Given the description of an element on the screen output the (x, y) to click on. 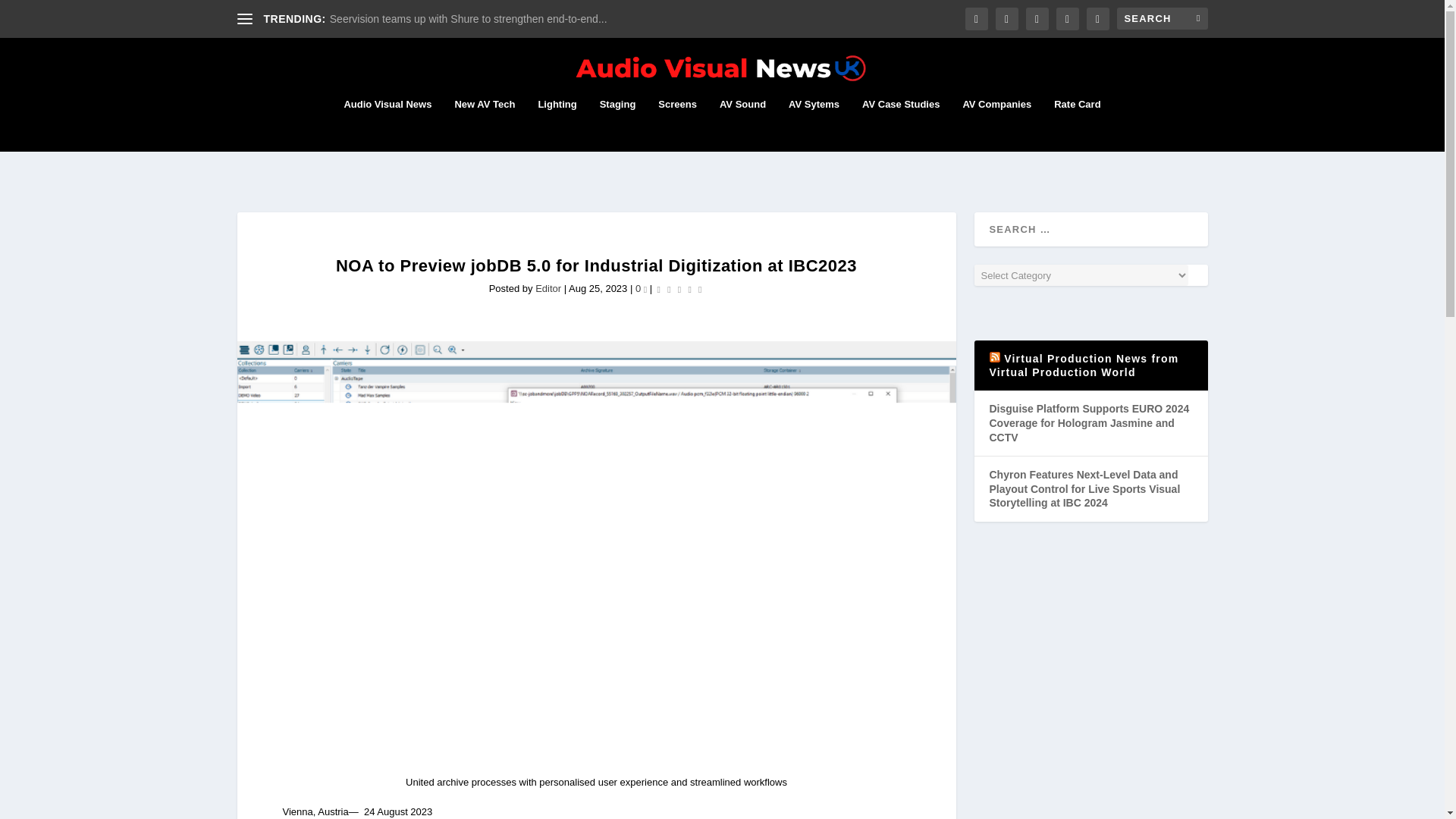
Search for: (1161, 18)
Posts by Editor (547, 288)
AV Sytems (814, 124)
Audio Visual News (386, 124)
Rating: 0.00 (679, 288)
AV Companies (996, 124)
Seervision teams up with Shure to strengthen end-to-end... (468, 19)
New AV Tech (484, 124)
AV Case Studies (900, 124)
